Given the description of an element on the screen output the (x, y) to click on. 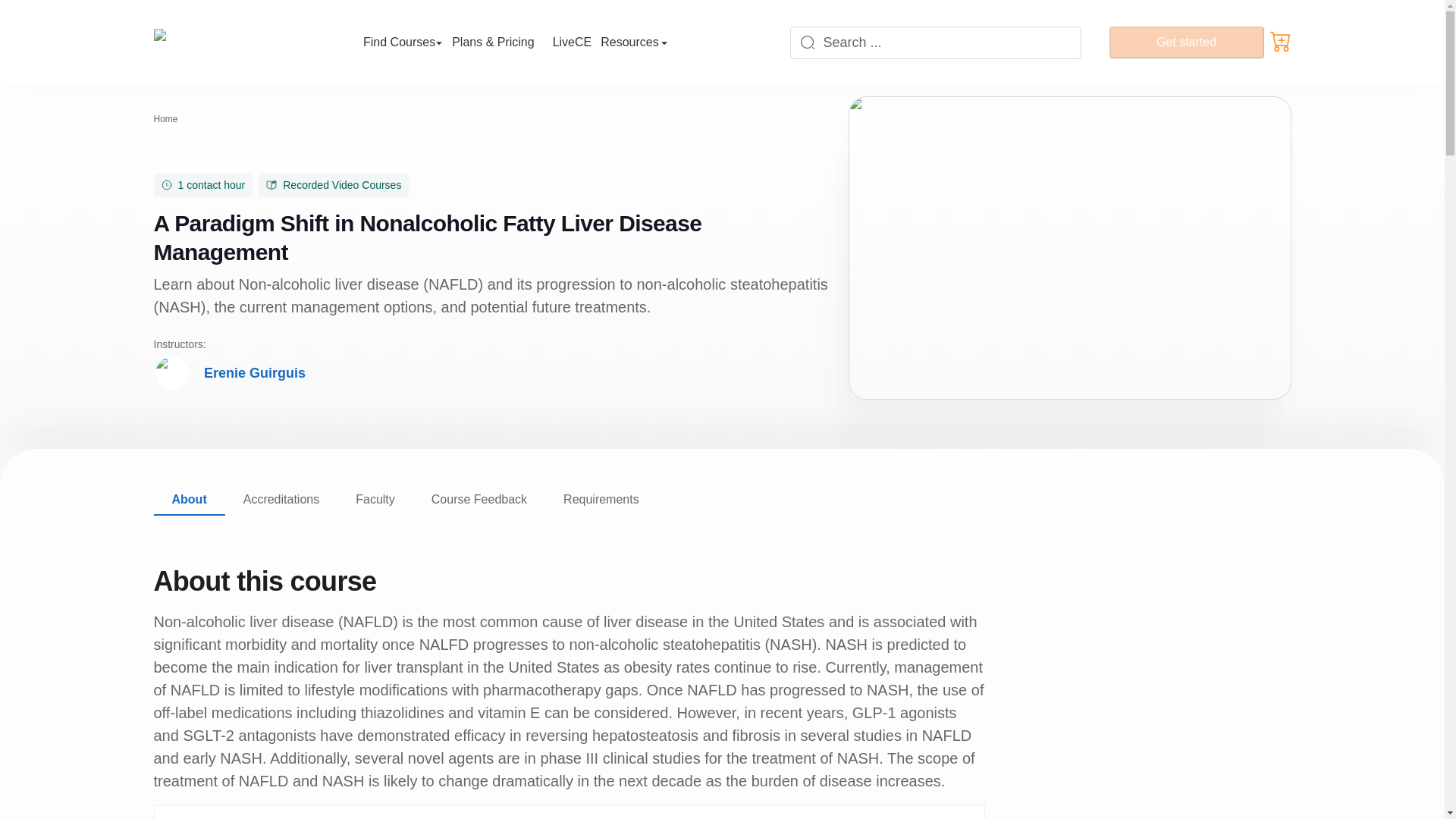
Home (164, 118)
Get started (1185, 42)
LiveCE (572, 42)
Faculty (375, 500)
Accreditations (281, 500)
Course Feedback (478, 500)
Find Courses (402, 42)
About (188, 500)
Resources (632, 42)
Requirements (601, 500)
